Given the description of an element on the screen output the (x, y) to click on. 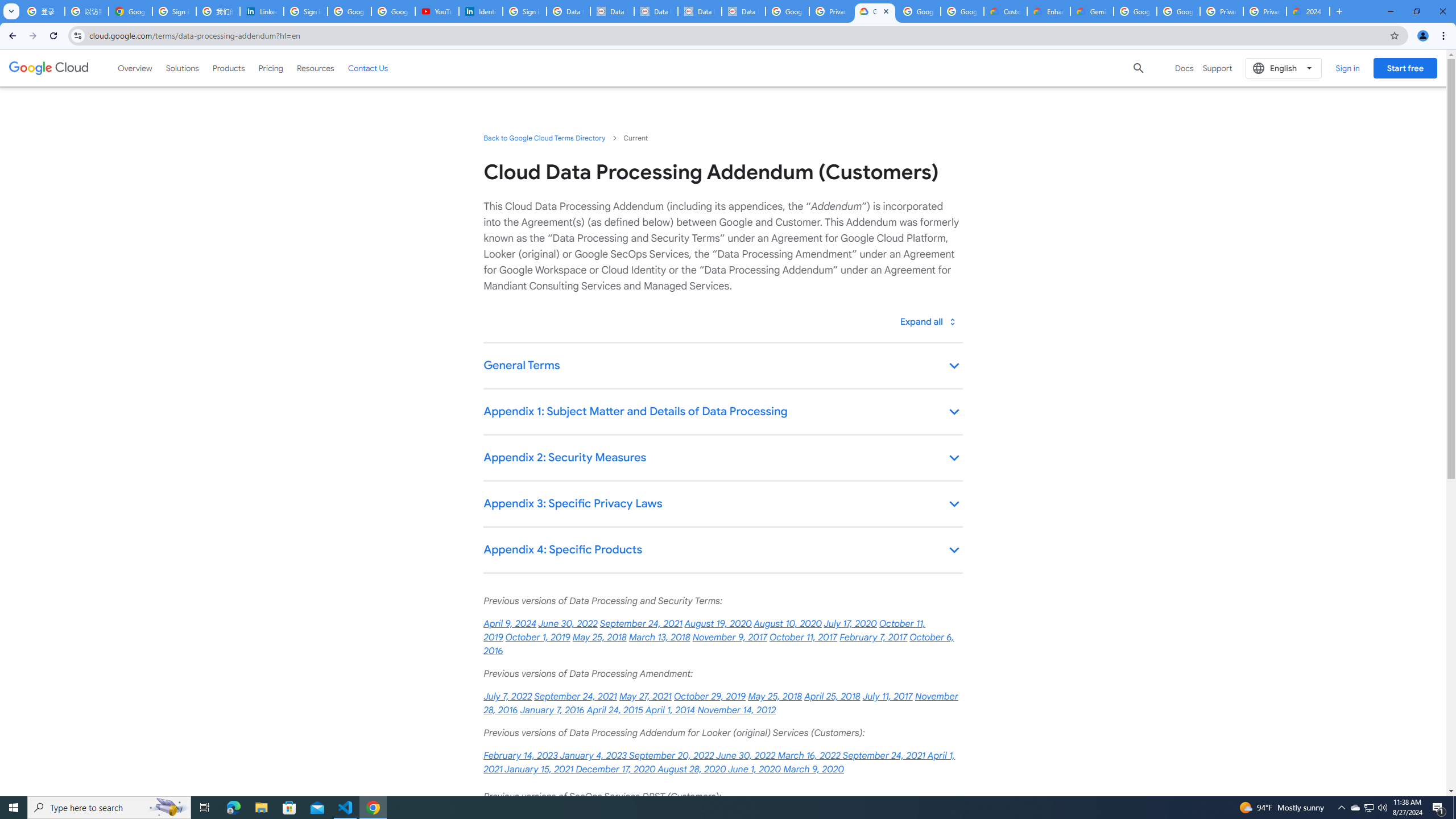
Data Privacy Framework (655, 11)
October 11, 2017 (802, 637)
Back to Google Cloud Terms Directory (544, 137)
Data Privacy Framework (699, 11)
July 11, 2017 (886, 696)
Sign in - Google Accounts (524, 11)
Pricing (270, 67)
March 13, 2018 (659, 637)
